Given the description of an element on the screen output the (x, y) to click on. 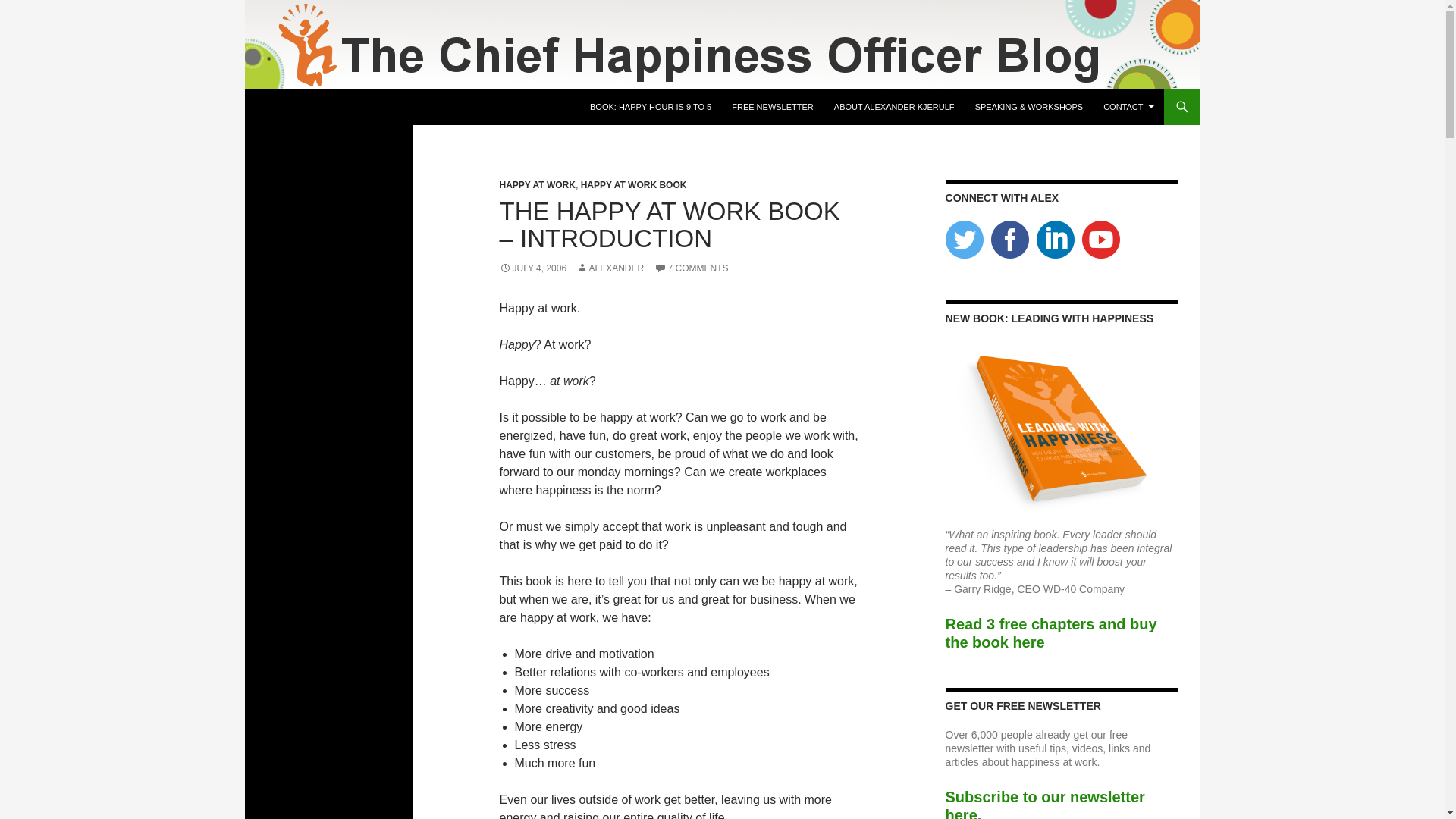
HAPPY AT WORK (537, 184)
BOOK: HAPPY HOUR IS 9 TO 5 (650, 106)
JULY 4, 2006 (532, 267)
ALEXANDER (609, 267)
HAPPY AT WORK BOOK (633, 184)
FREE NEWSLETTER (772, 106)
CONTACT (1127, 106)
ABOUT ALEXANDER KJERULF (894, 106)
7 COMMENTS (690, 267)
The Chief Happiness Officer Blog (374, 106)
